Given the description of an element on the screen output the (x, y) to click on. 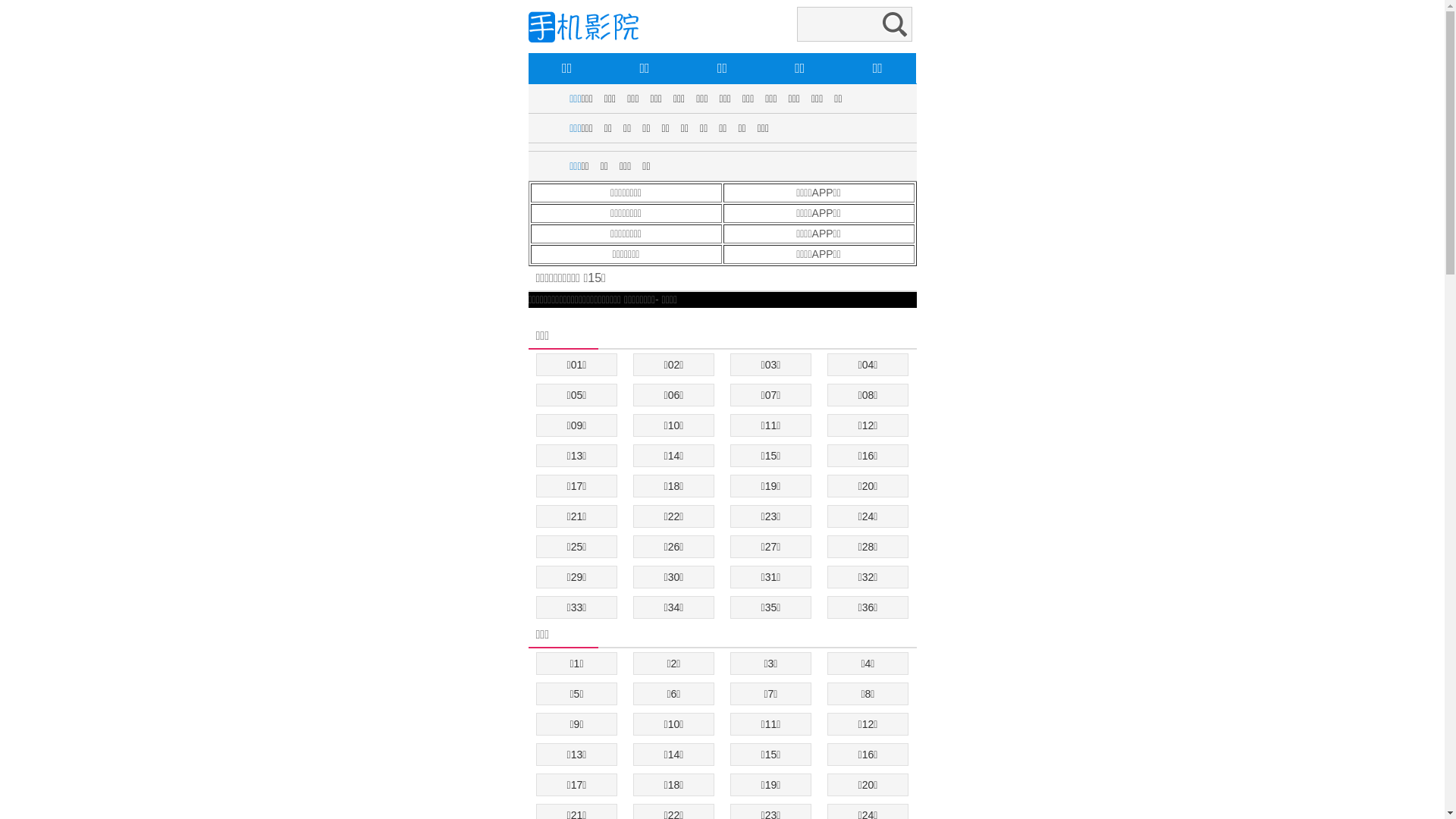
  Element type: text (528, 315)
